Given the description of an element on the screen output the (x, y) to click on. 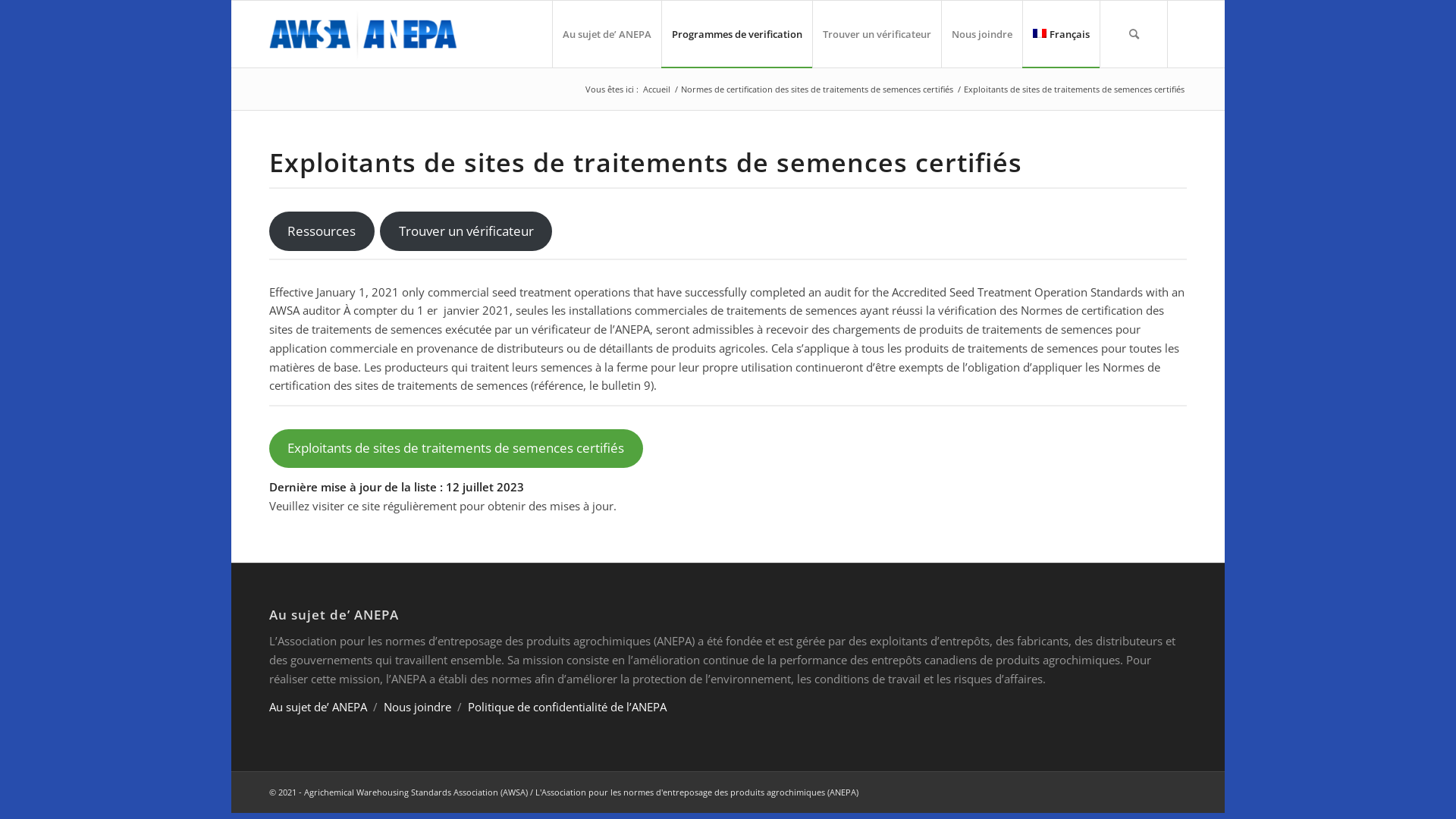
Programmes de verification Element type: text (736, 33)
Ressources Element type: text (321, 230)
Nous joindre Element type: text (417, 706)
Nous joindre Element type: text (981, 33)
Accueil Element type: text (656, 88)
